Given the description of an element on the screen output the (x, y) to click on. 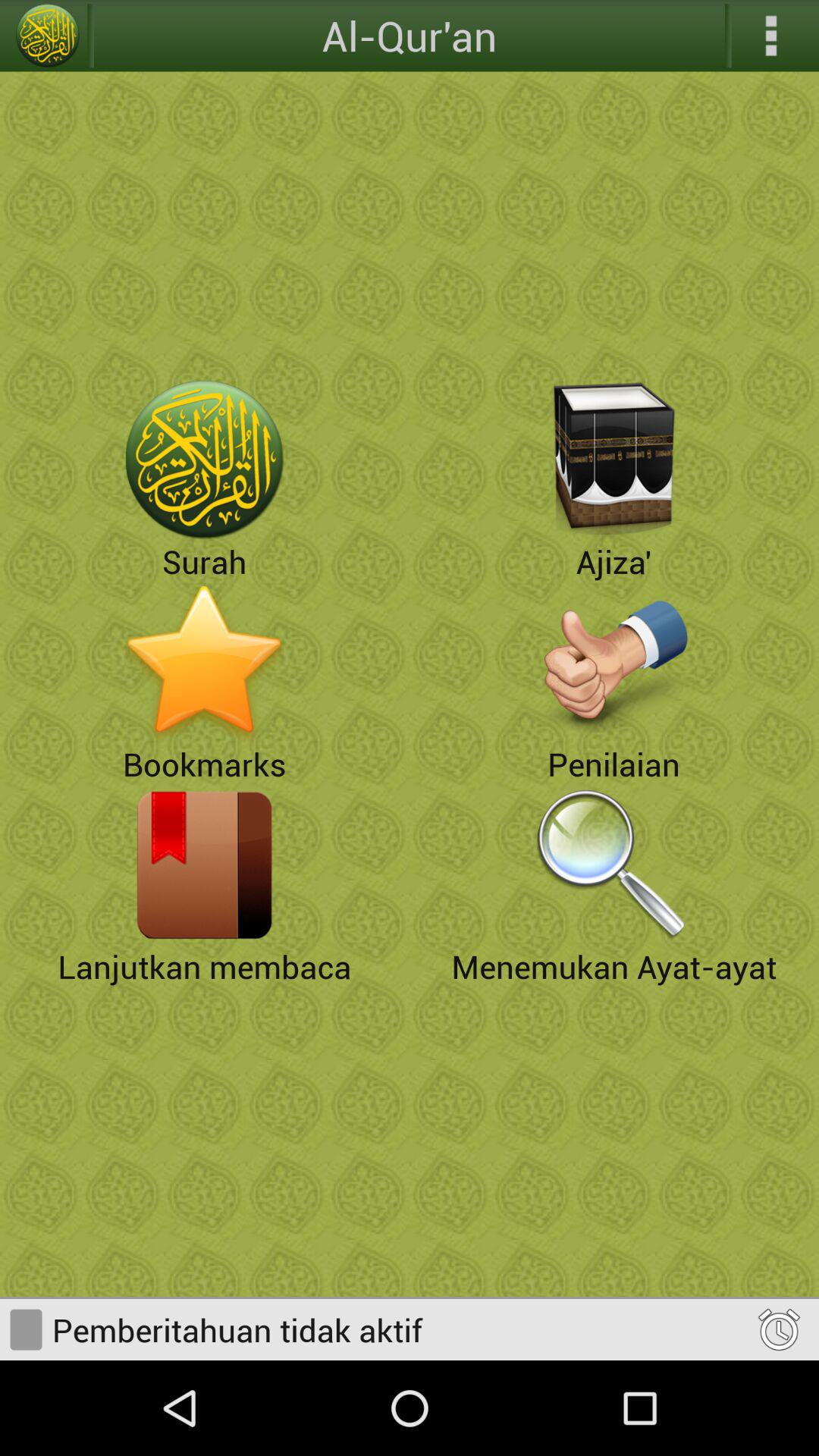
penilaian (613, 662)
